Given the description of an element on the screen output the (x, y) to click on. 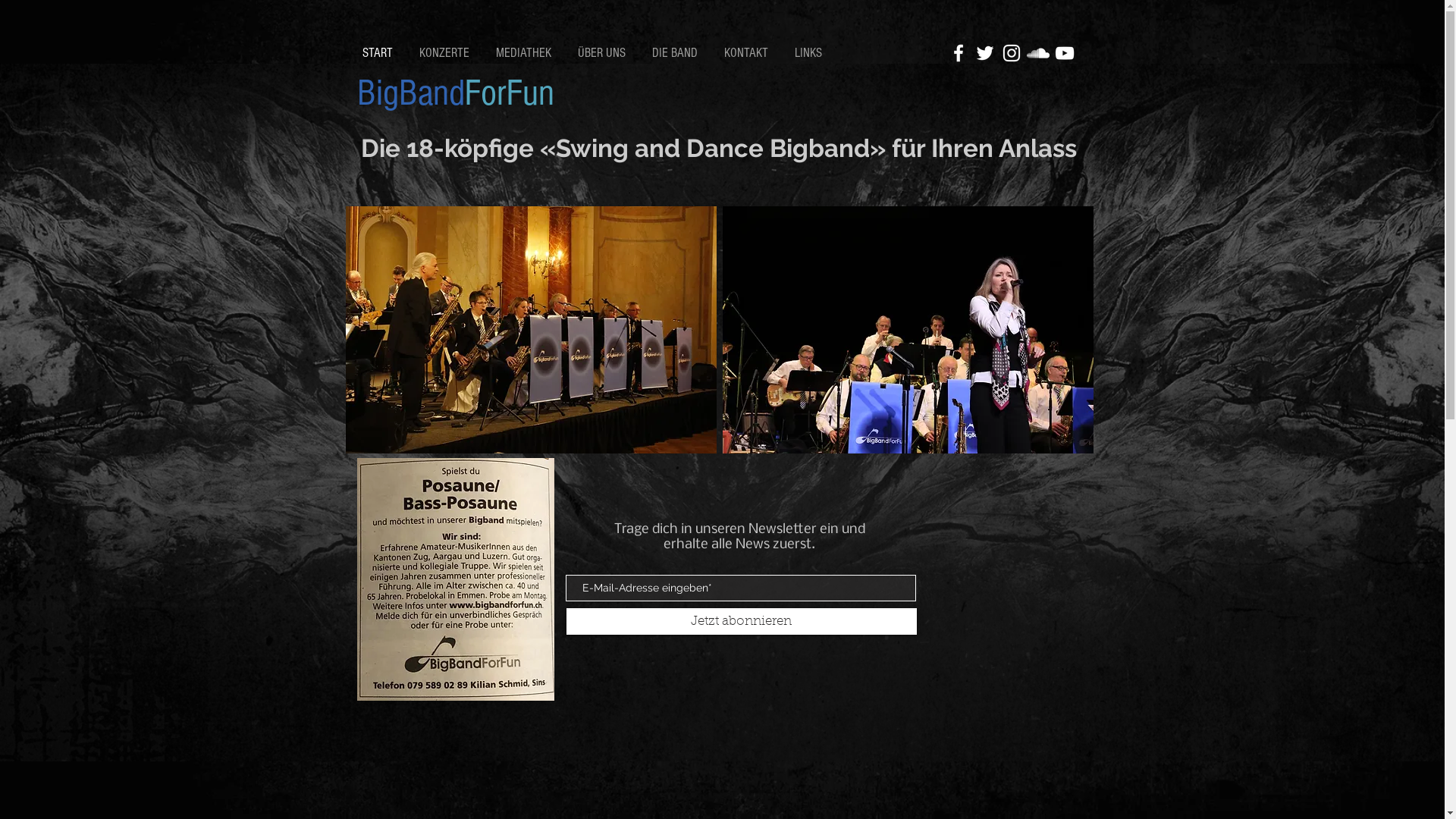
Jetzt abonnieren Element type: text (740, 621)
IMG-20230830-WA0000.jpg Element type: hover (454, 579)
KONTAKT Element type: text (747, 52)
MEDIATHEK Element type: text (524, 52)
_K4A8858.JPG Element type: hover (906, 329)
LINKS Element type: text (808, 52)
_K4A9636.JPG Element type: hover (530, 329)
DIE BAND Element type: text (676, 52)
KONZERTE Element type: text (445, 52)
START Element type: text (378, 52)
